Given the description of an element on the screen output the (x, y) to click on. 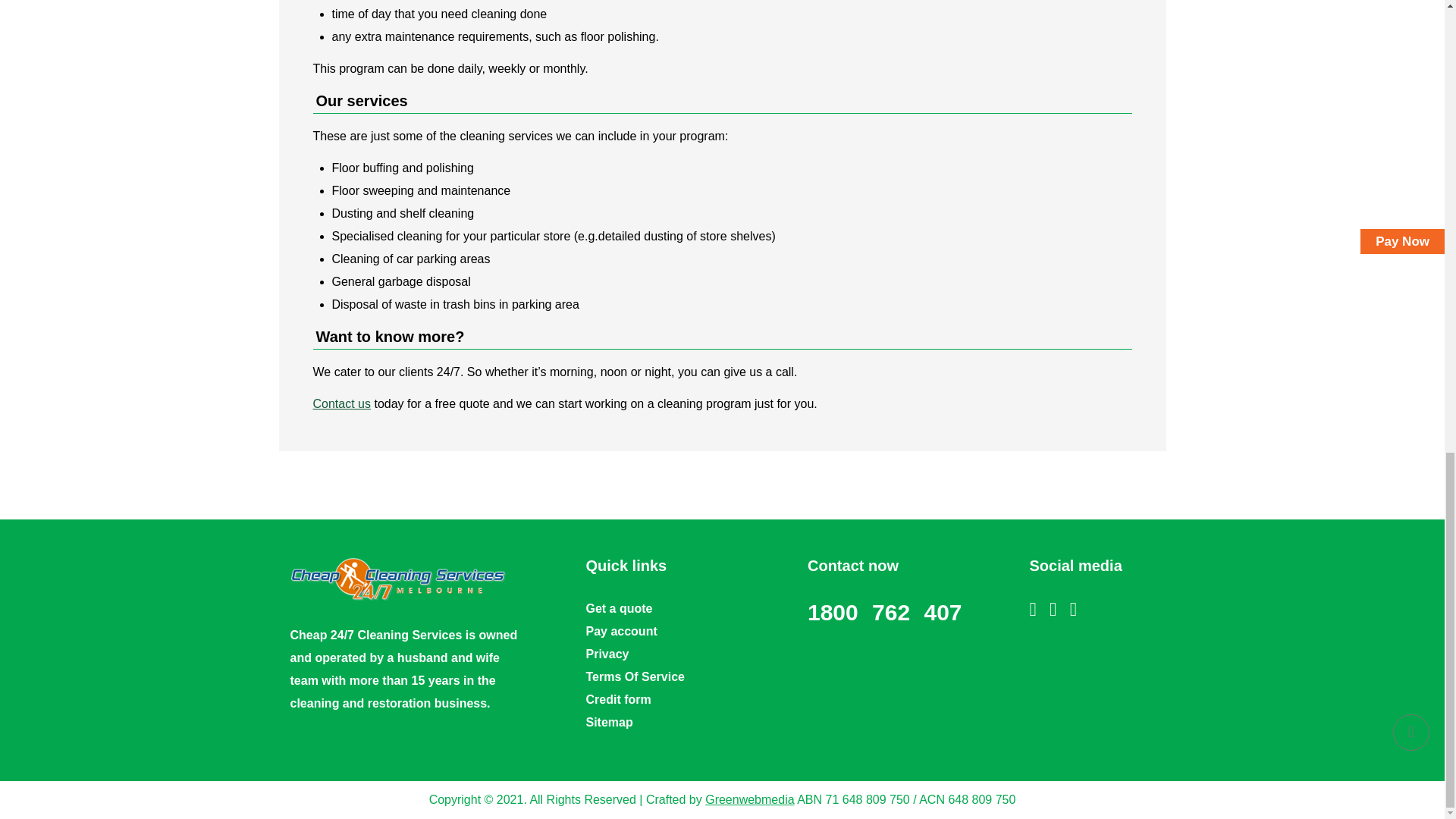
Contact us (341, 403)
